Given the description of an element on the screen output the (x, y) to click on. 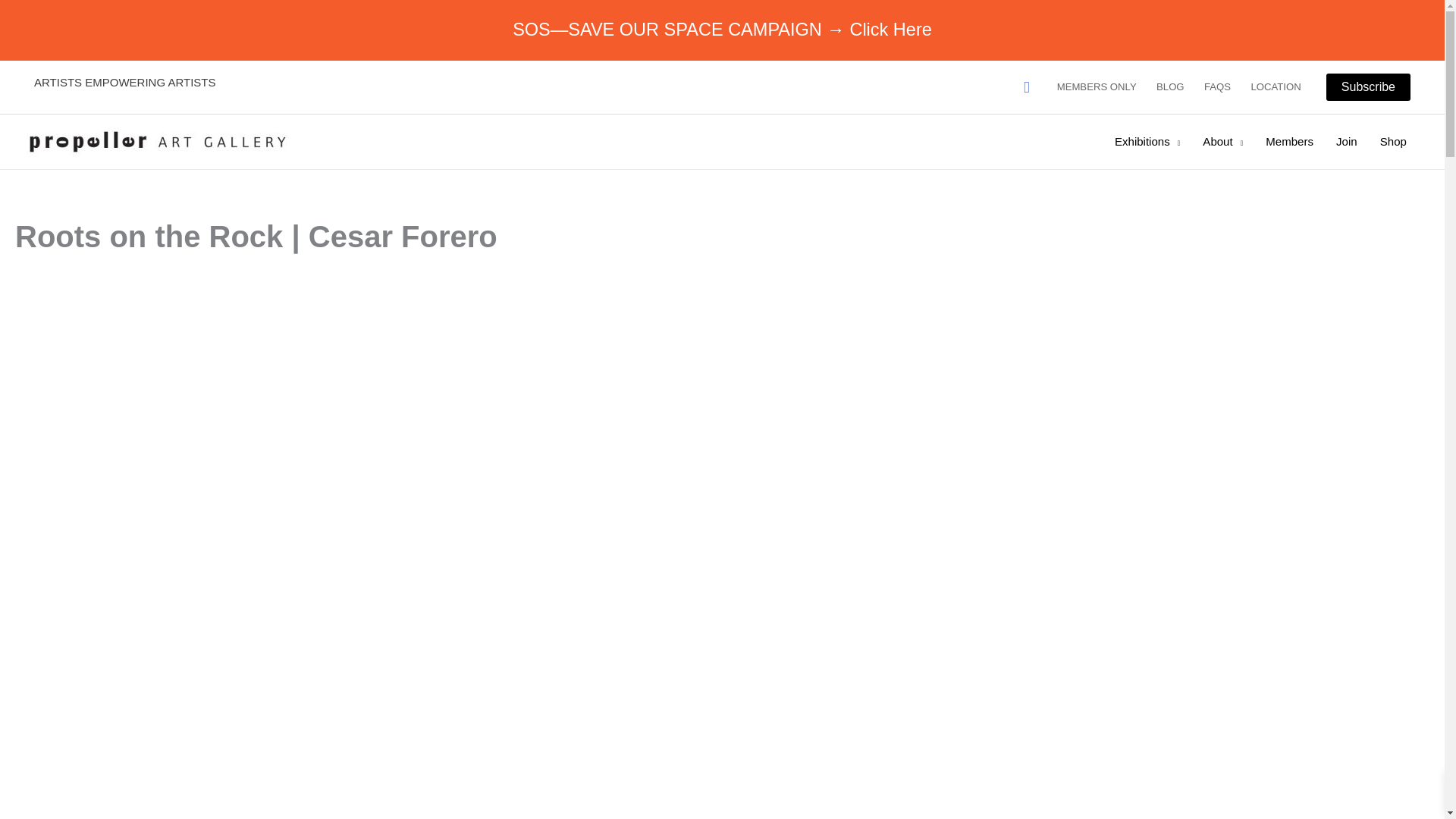
Subscribe (1368, 86)
Members (1288, 141)
LOCATION (1275, 86)
BLOG (1170, 86)
Join (1346, 141)
Shop (1393, 141)
MEMBERS ONLY (1095, 86)
About (1222, 141)
Exhibitions (1147, 141)
